Given the description of an element on the screen output the (x, y) to click on. 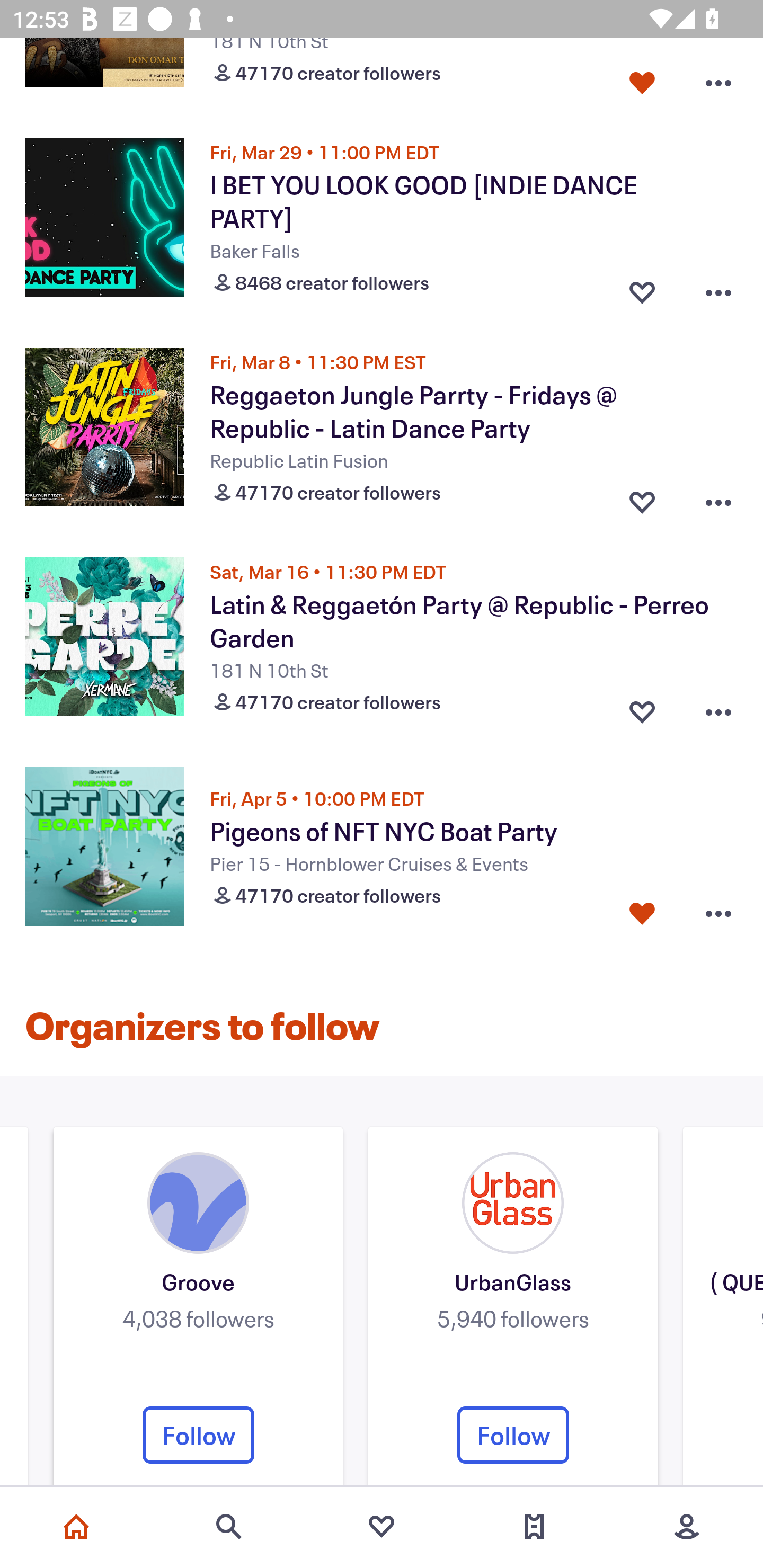
Favorite button (642, 78)
Overflow menu button (718, 78)
Favorite button (642, 287)
Overflow menu button (718, 287)
Favorite button (642, 497)
Overflow menu button (718, 497)
Favorite button (642, 707)
Overflow menu button (718, 707)
Favorite button (642, 912)
Overflow menu button (718, 912)
Follow Organizer's follow button (198, 1434)
Follow Organizer's follow button (513, 1434)
Home (76, 1526)
Search events (228, 1526)
Favorites (381, 1526)
Tickets (533, 1526)
More (686, 1526)
